Given the description of an element on the screen output the (x, y) to click on. 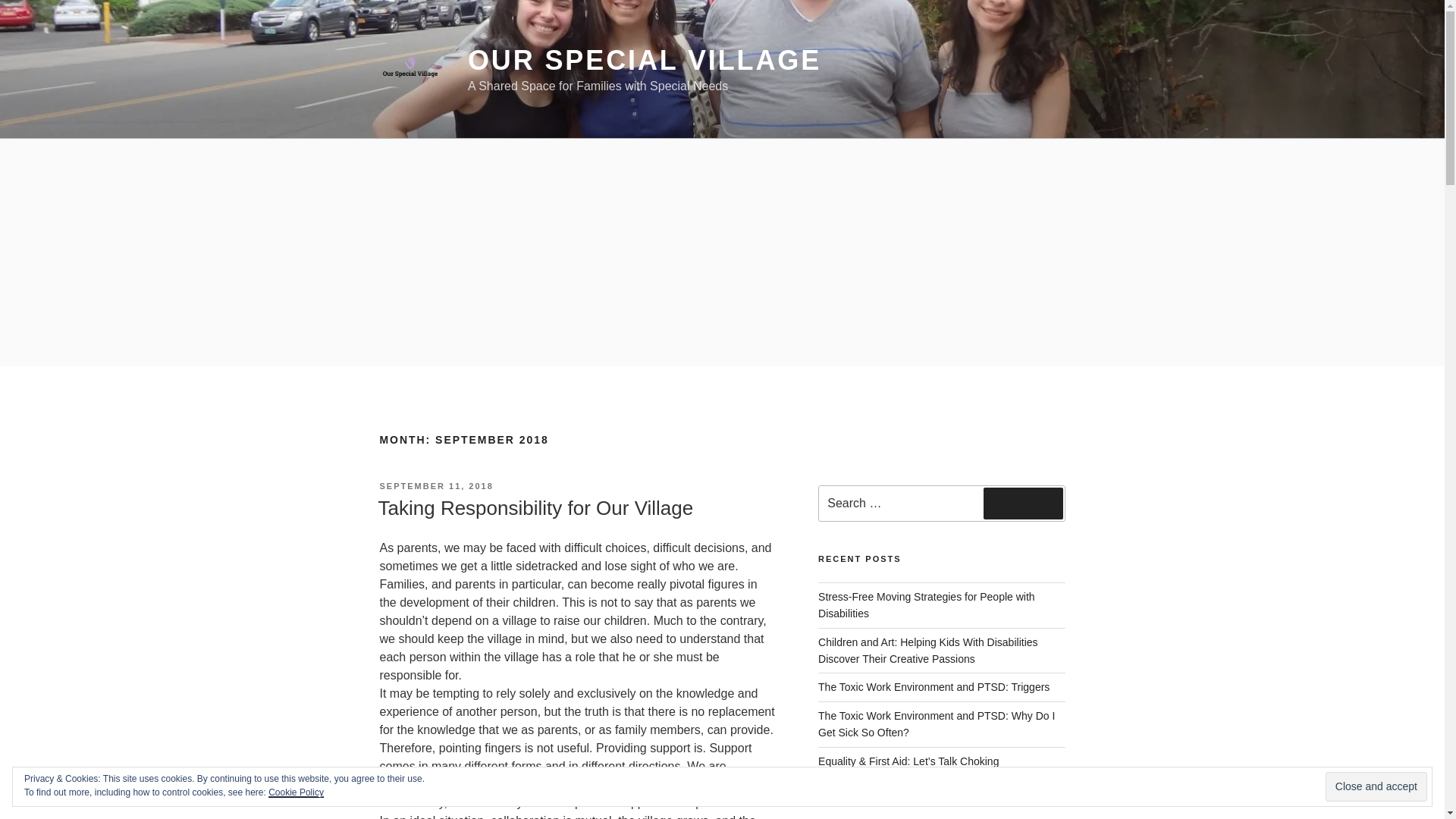
Search (1023, 503)
OUR SPECIAL VILLAGE (644, 60)
Stress-Free Moving Strategies for People with Disabilities (926, 604)
The Toxic Work Environment and PTSD: Triggers (933, 686)
Taking Responsibility for Our Village (535, 507)
Close and accept (1375, 786)
SEPTEMBER 11, 2018 (435, 485)
